Given the description of an element on the screen output the (x, y) to click on. 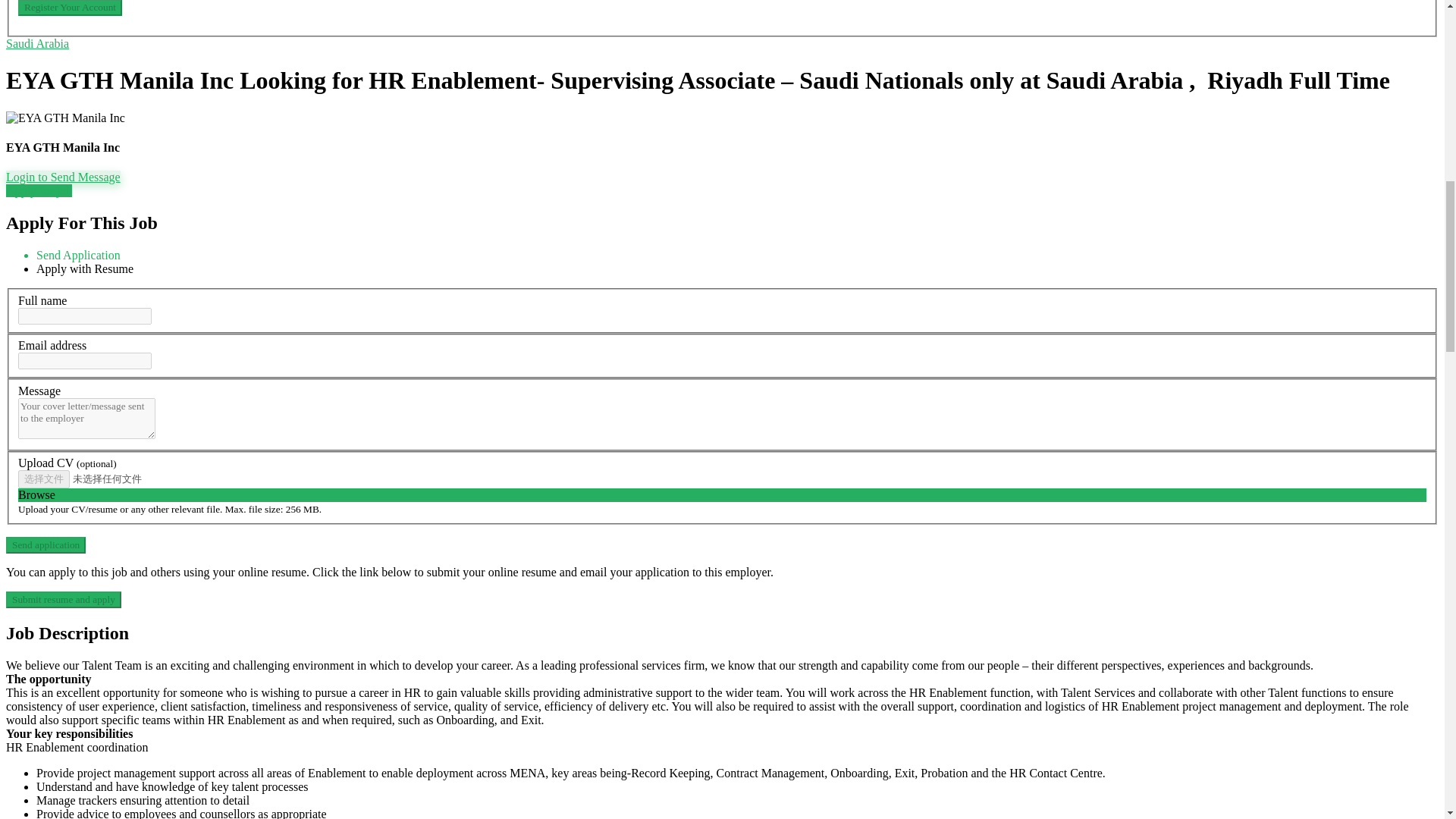
Register Your Account (69, 7)
Submit resume and apply (62, 599)
Submit resume and apply (62, 599)
Send application (45, 545)
Login to Send Message (62, 176)
Send application (45, 545)
Register Your Account (69, 7)
Saudi Arabia (36, 42)
Apply for job (38, 190)
